Given the description of an element on the screen output the (x, y) to click on. 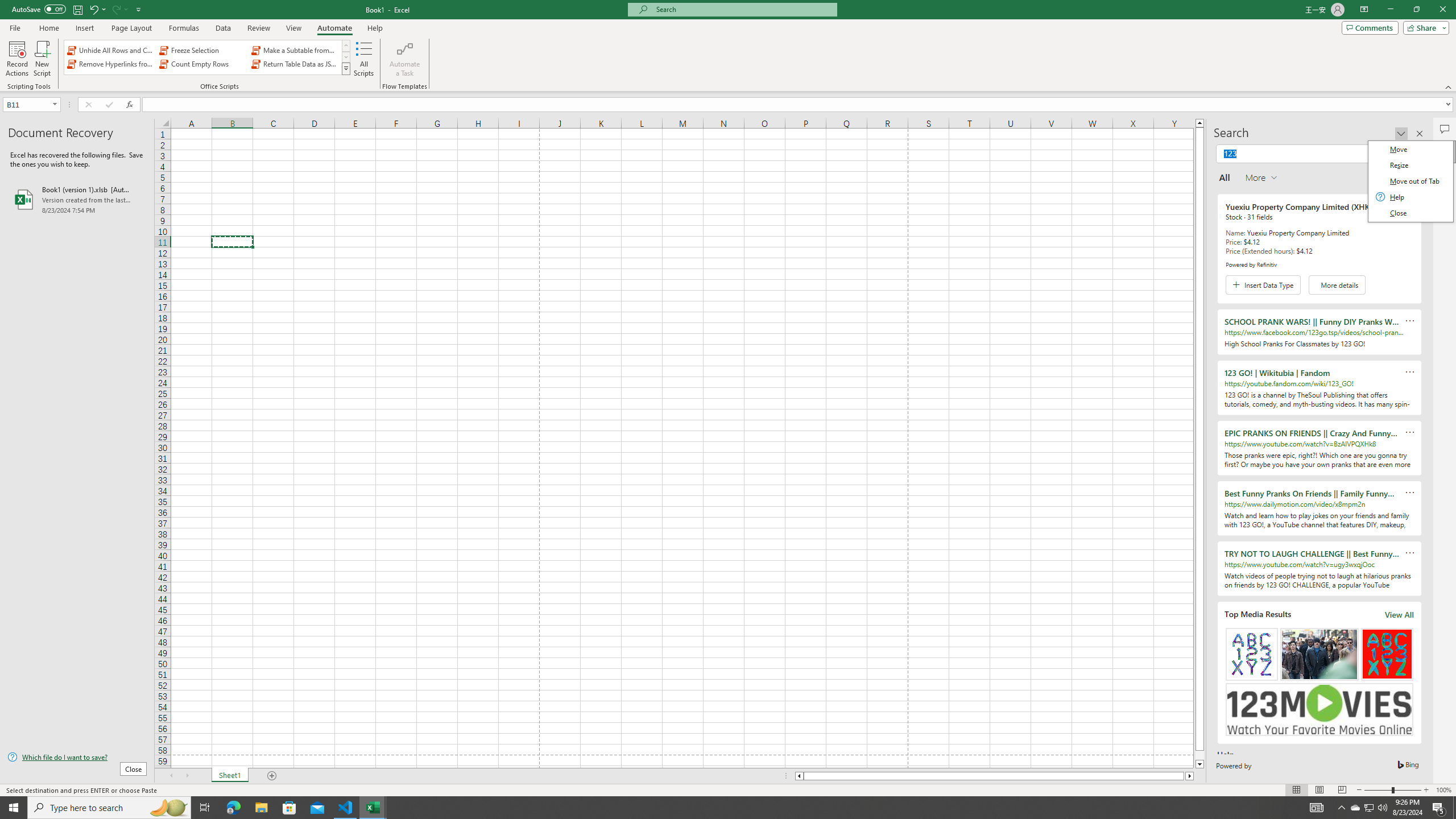
Freeze Selection (202, 50)
Remove Hyperlinks from Sheet (111, 64)
Return Table Data as JSON (294, 64)
Action Center, 5 new notifications (1439, 807)
File Explorer (261, 807)
